Given the description of an element on the screen output the (x, y) to click on. 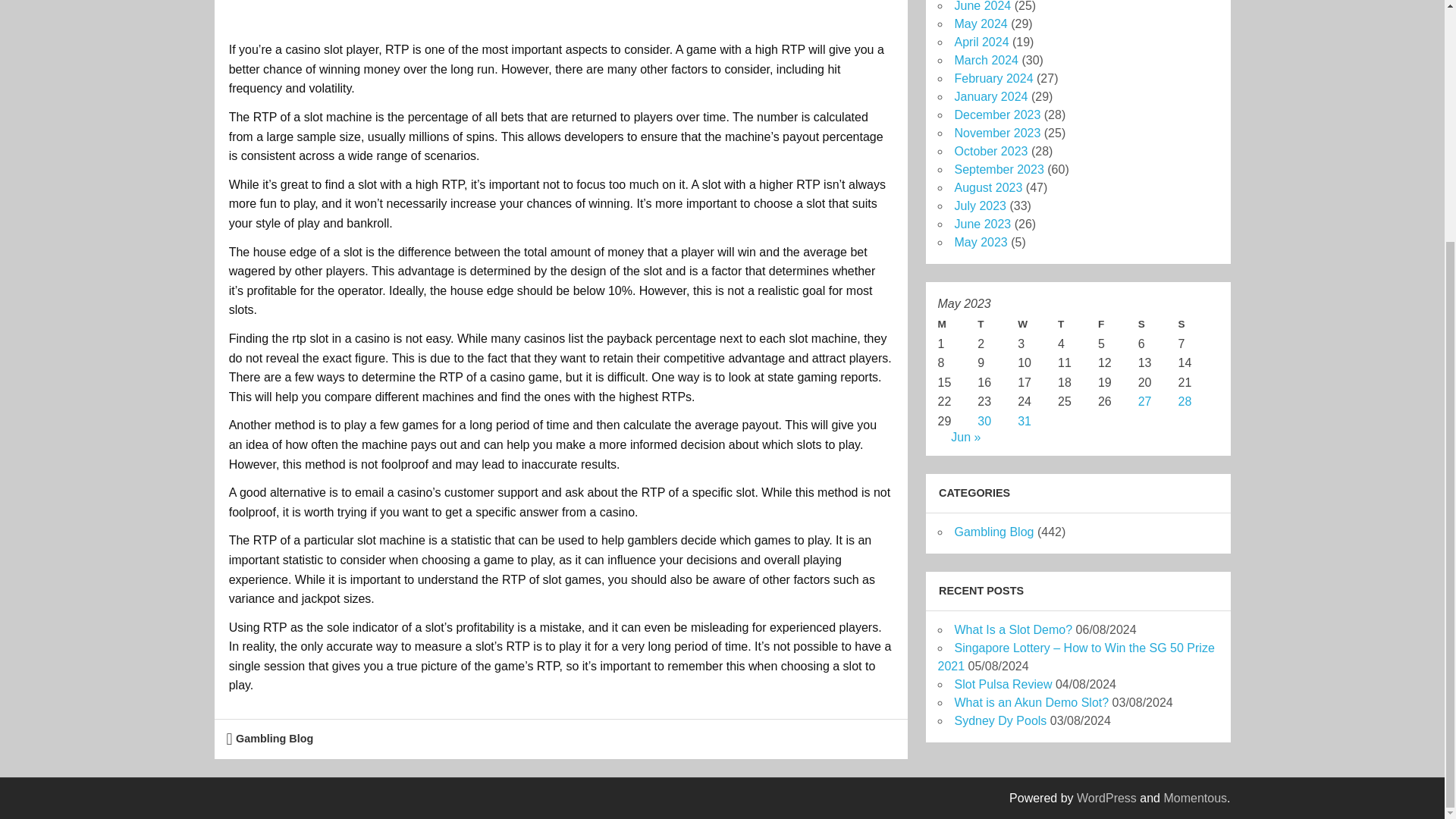
Sunday (1197, 324)
Wednesday (1037, 324)
Saturday (1157, 324)
What Is a Slot Demo? (1012, 629)
May 2023 (980, 241)
May 2024 (980, 23)
WordPress (1107, 797)
27 (1144, 400)
January 2024 (990, 96)
Momentous WordPress Theme (1195, 797)
February 2024 (992, 78)
March 2024 (985, 60)
September 2023 (998, 169)
Gambling Blog (993, 531)
What is an Akun Demo Slot? (1030, 702)
